Given the description of an element on the screen output the (x, y) to click on. 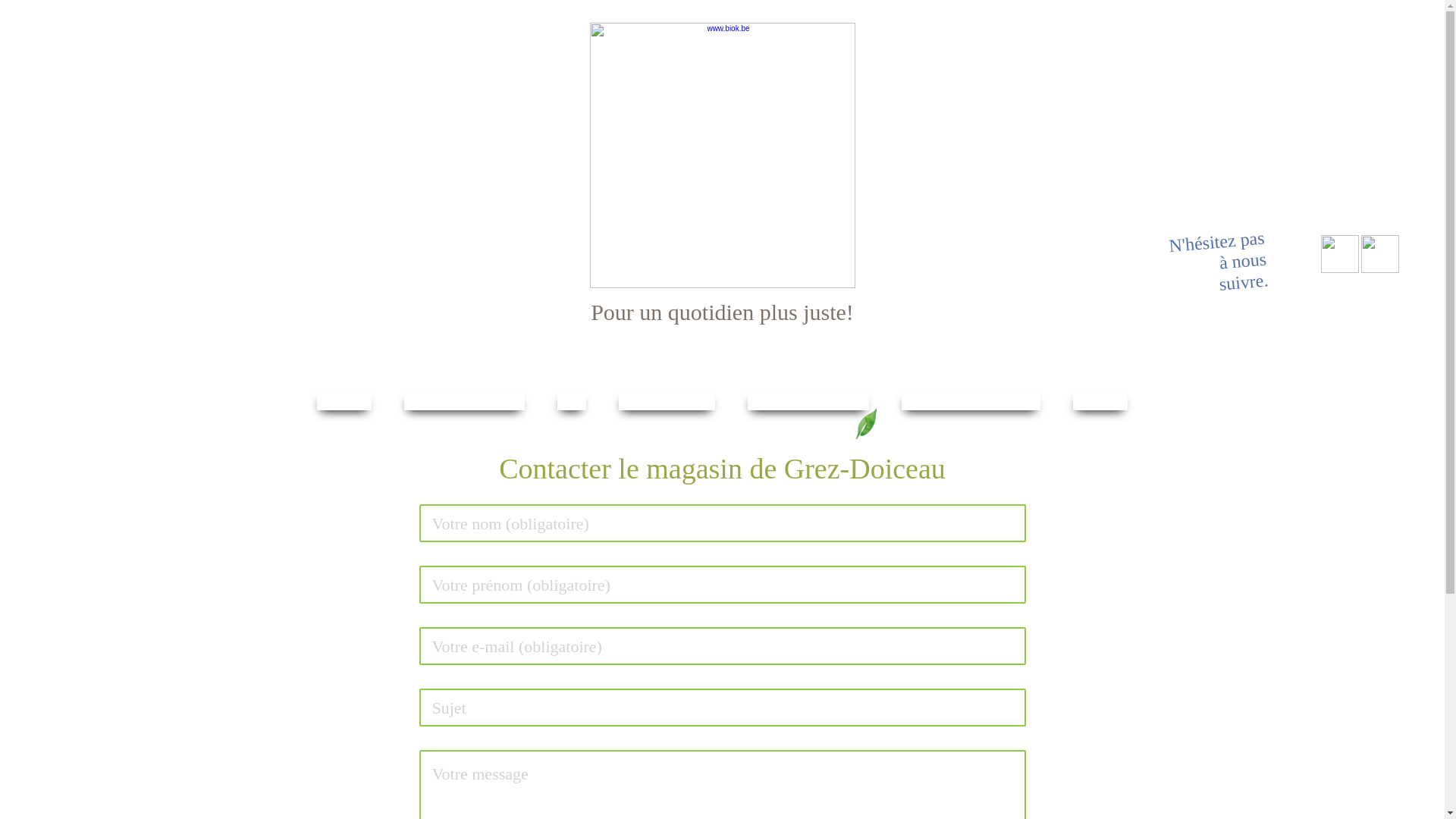
Contact Element type: text (1100, 400)
qui sommes nous Element type: text (464, 400)
jobs Element type: text (571, 400)
Pour un quotidien plus juste! Element type: text (722, 173)
Accueil Element type: text (343, 400)
calendrier bio Element type: text (666, 400)
